Given the description of an element on the screen output the (x, y) to click on. 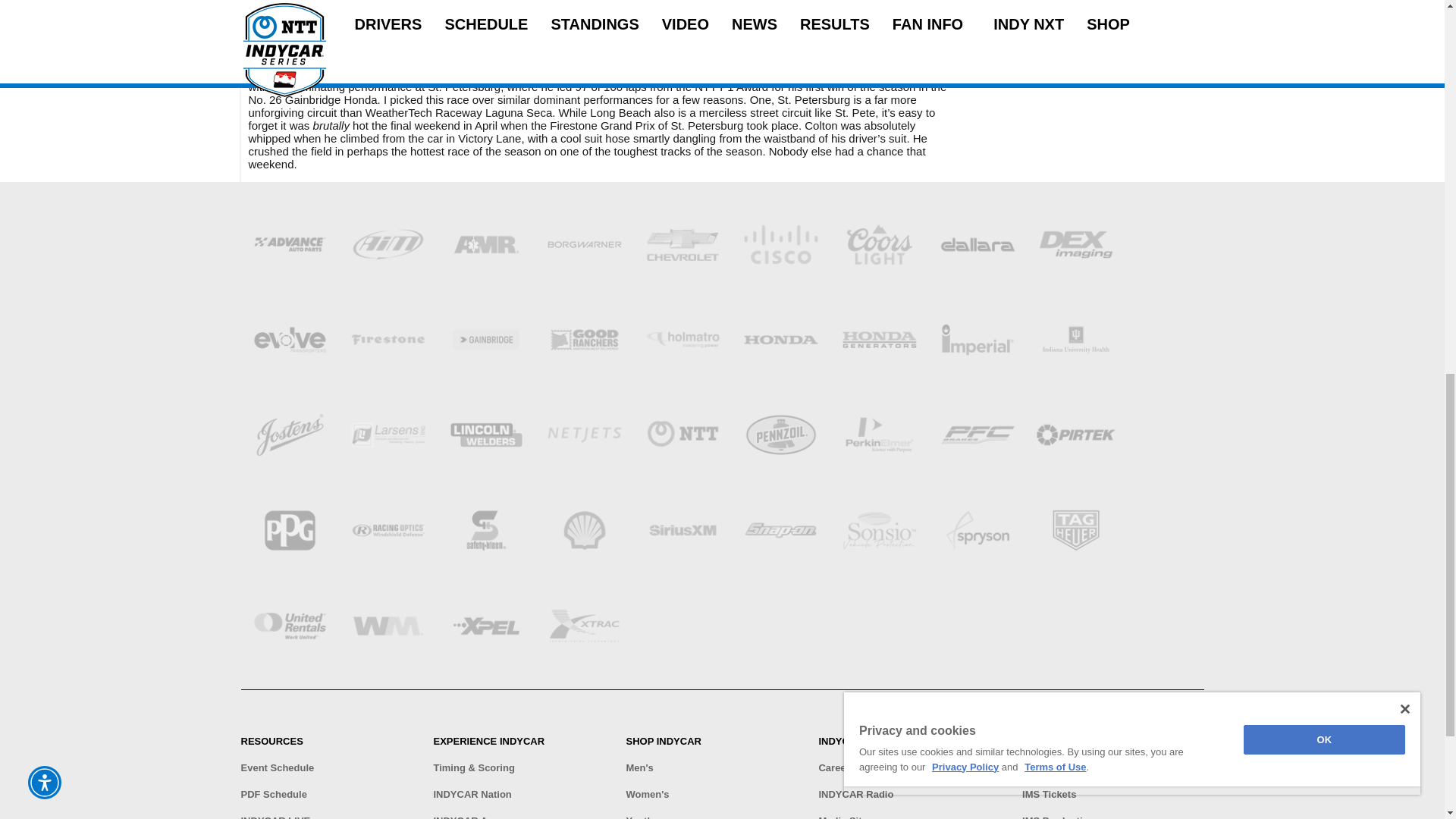
3rd party ad content (1085, 59)
